Given the description of an element on the screen output the (x, y) to click on. 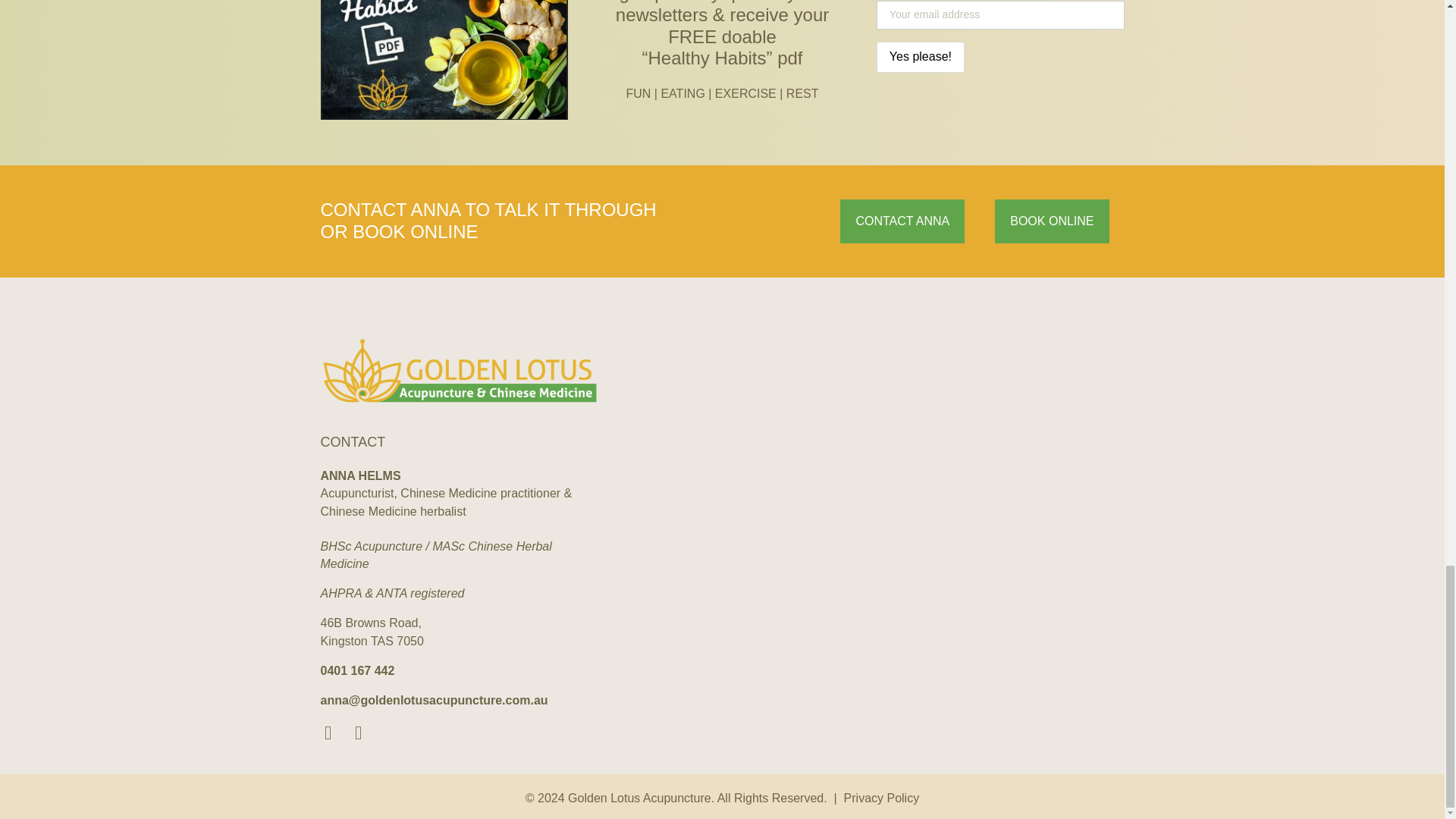
0401 167 442 (357, 670)
healthy-tips (443, 59)
Yes please! (919, 56)
Privacy Policy (882, 797)
BOOK ONLINE (1051, 221)
CONTACT ANNA (901, 221)
Yes please! (919, 56)
